Given the description of an element on the screen output the (x, y) to click on. 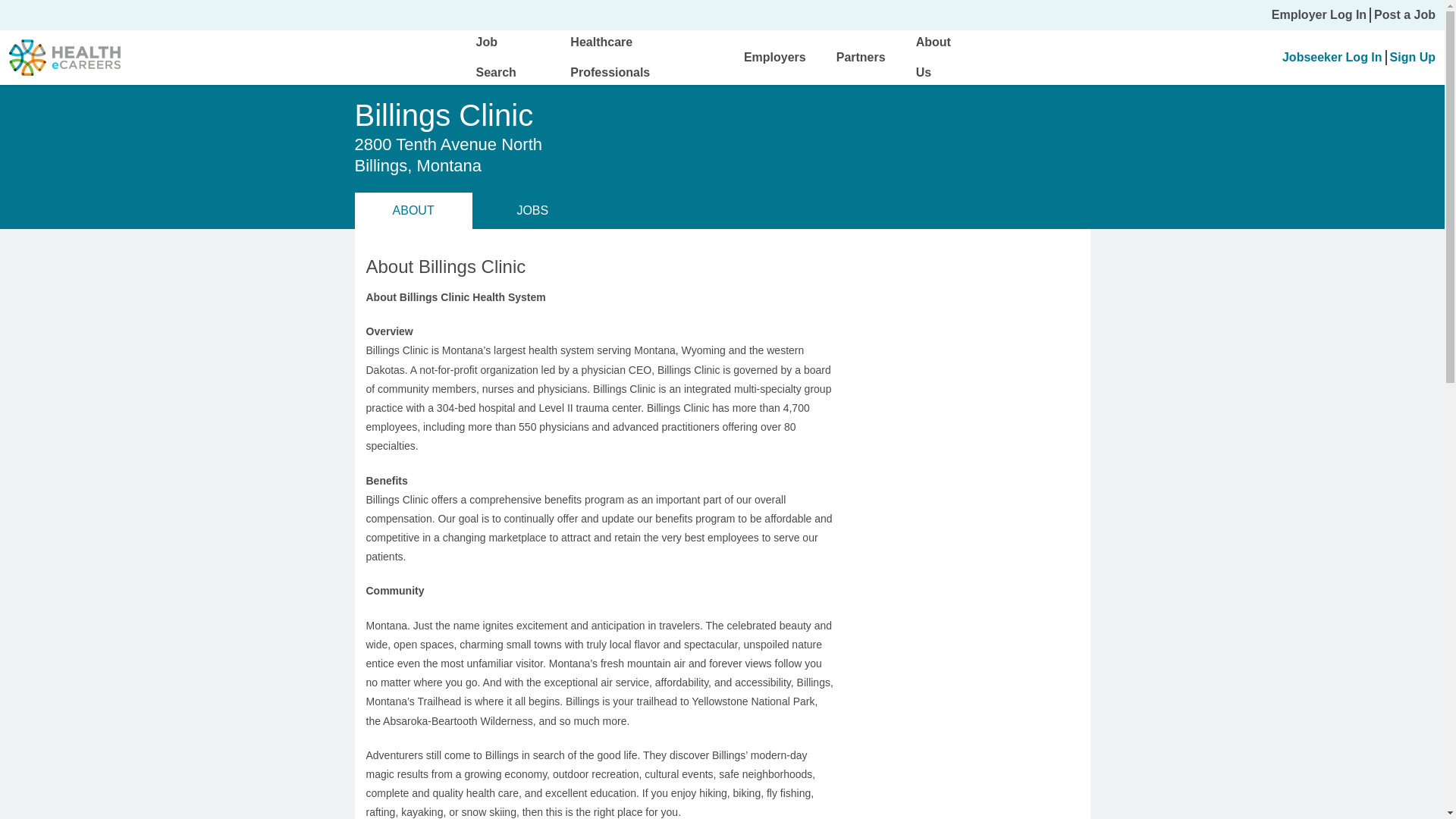
Employer Log In (1319, 14)
Healthcare Professionals (609, 57)
Post a Job (1404, 14)
Employers (775, 56)
Job Search (496, 57)
